Given the description of an element on the screen output the (x, y) to click on. 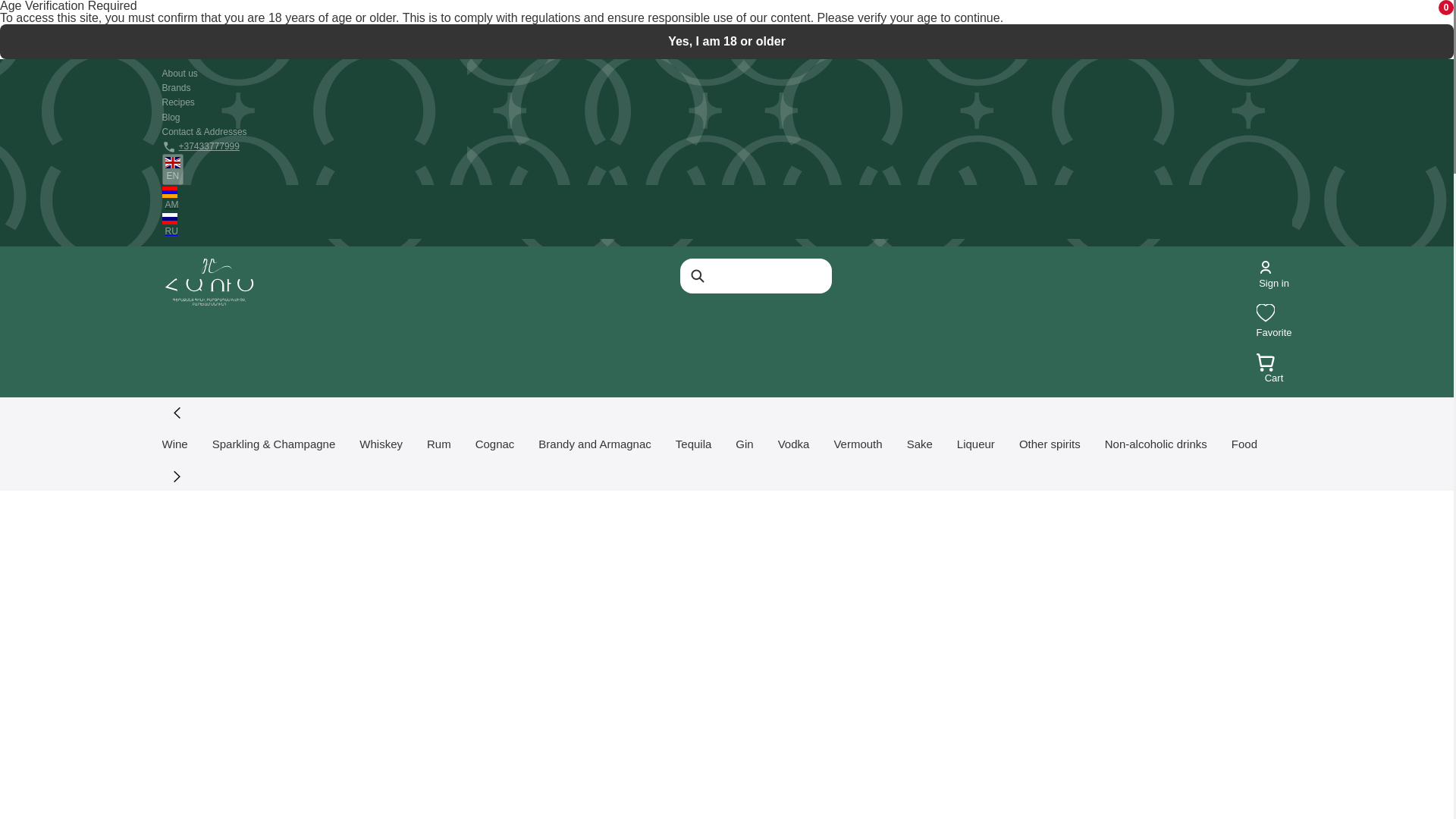
Rum (438, 443)
Recipes (178, 102)
Other spirits (1049, 443)
AM (726, 197)
Whiskey (381, 443)
RU (726, 225)
Vodka (793, 443)
Sake (920, 443)
Cognac (495, 443)
Favorite (1274, 370)
Tequila (1274, 332)
Liqueur (693, 443)
Brandy and Armagnac (975, 443)
About us (594, 443)
